Given the description of an element on the screen output the (x, y) to click on. 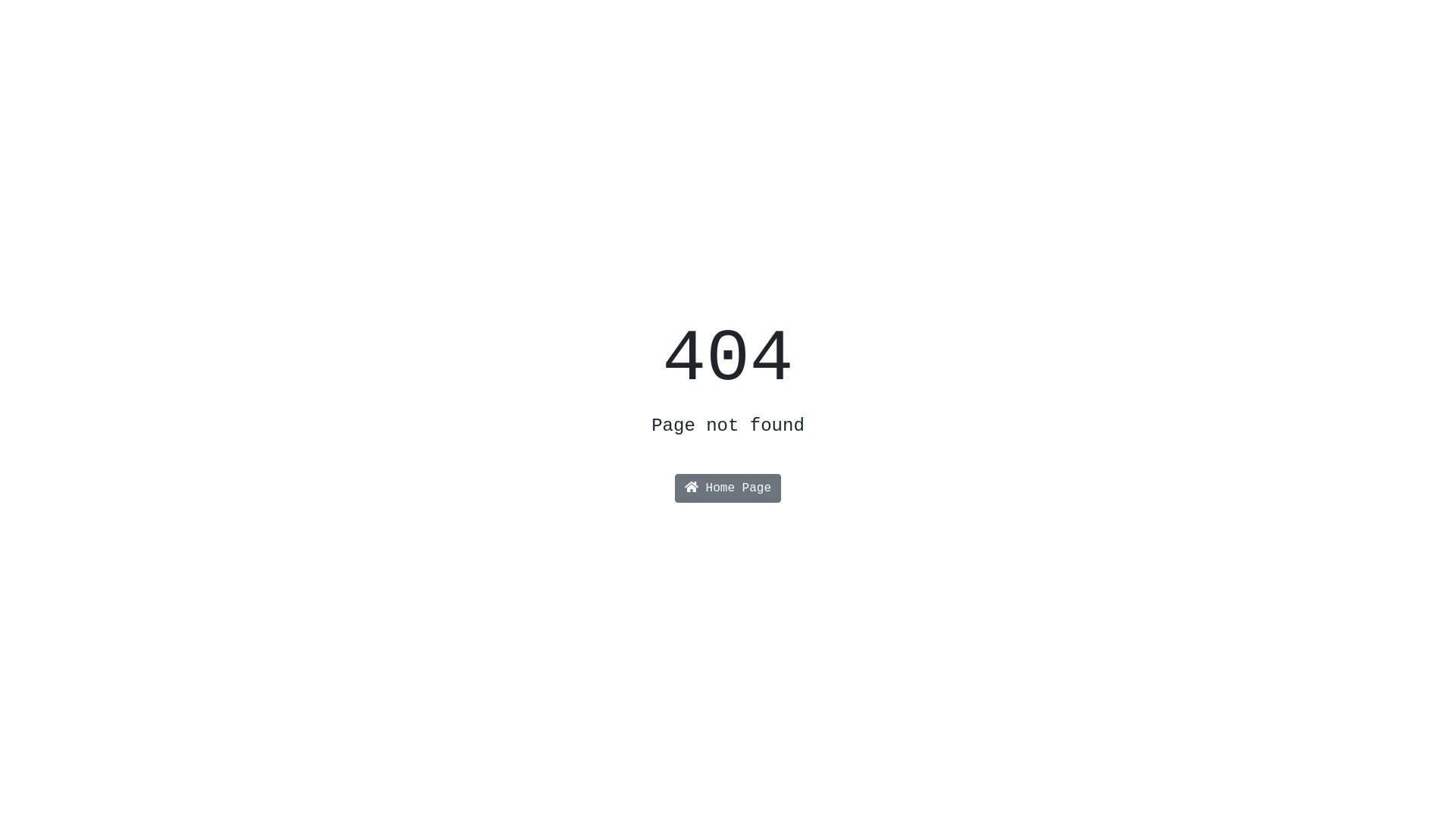
Home Page Element type: text (727, 487)
